Given the description of an element on the screen output the (x, y) to click on. 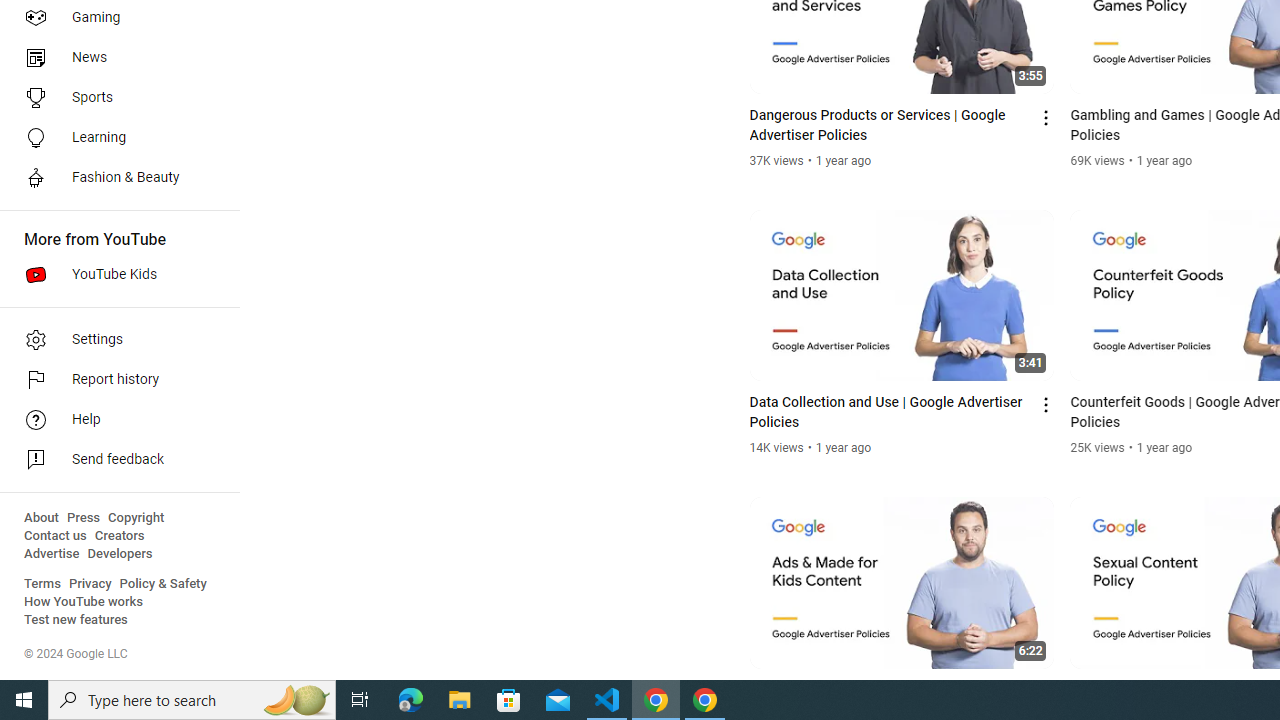
Policy & Safety (163, 584)
News (113, 57)
About (41, 518)
Press (83, 518)
Advertise (51, 554)
Sports (113, 97)
Test new features (76, 620)
Learning (113, 137)
